Given the description of an element on the screen output the (x, y) to click on. 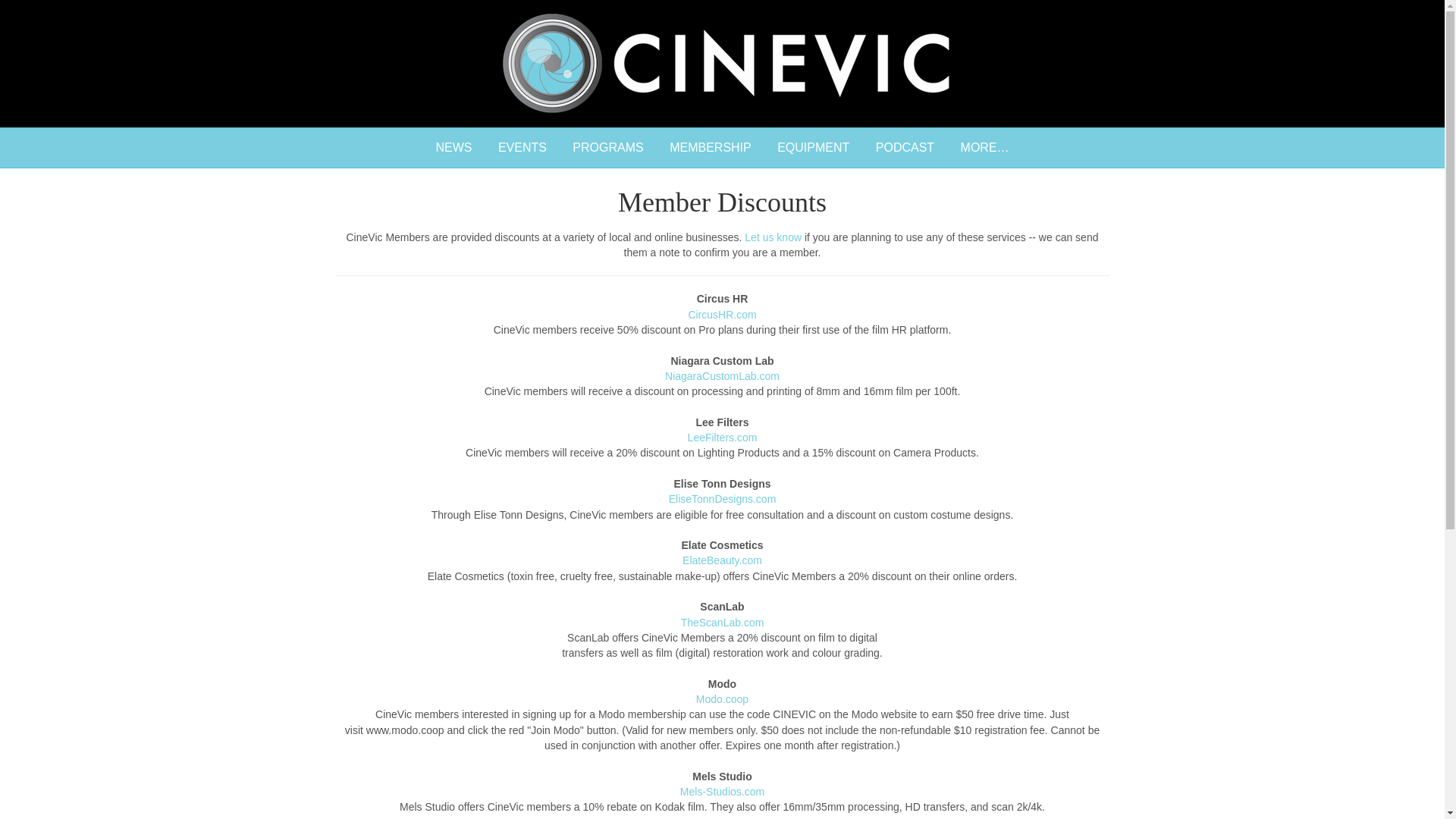
PODCAST (904, 147)
PROGRAMS (606, 147)
EVENTS (521, 147)
MEMBERSHIP (710, 147)
EQUIPMENT (812, 147)
NEWS (453, 147)
